Given the description of an element on the screen output the (x, y) to click on. 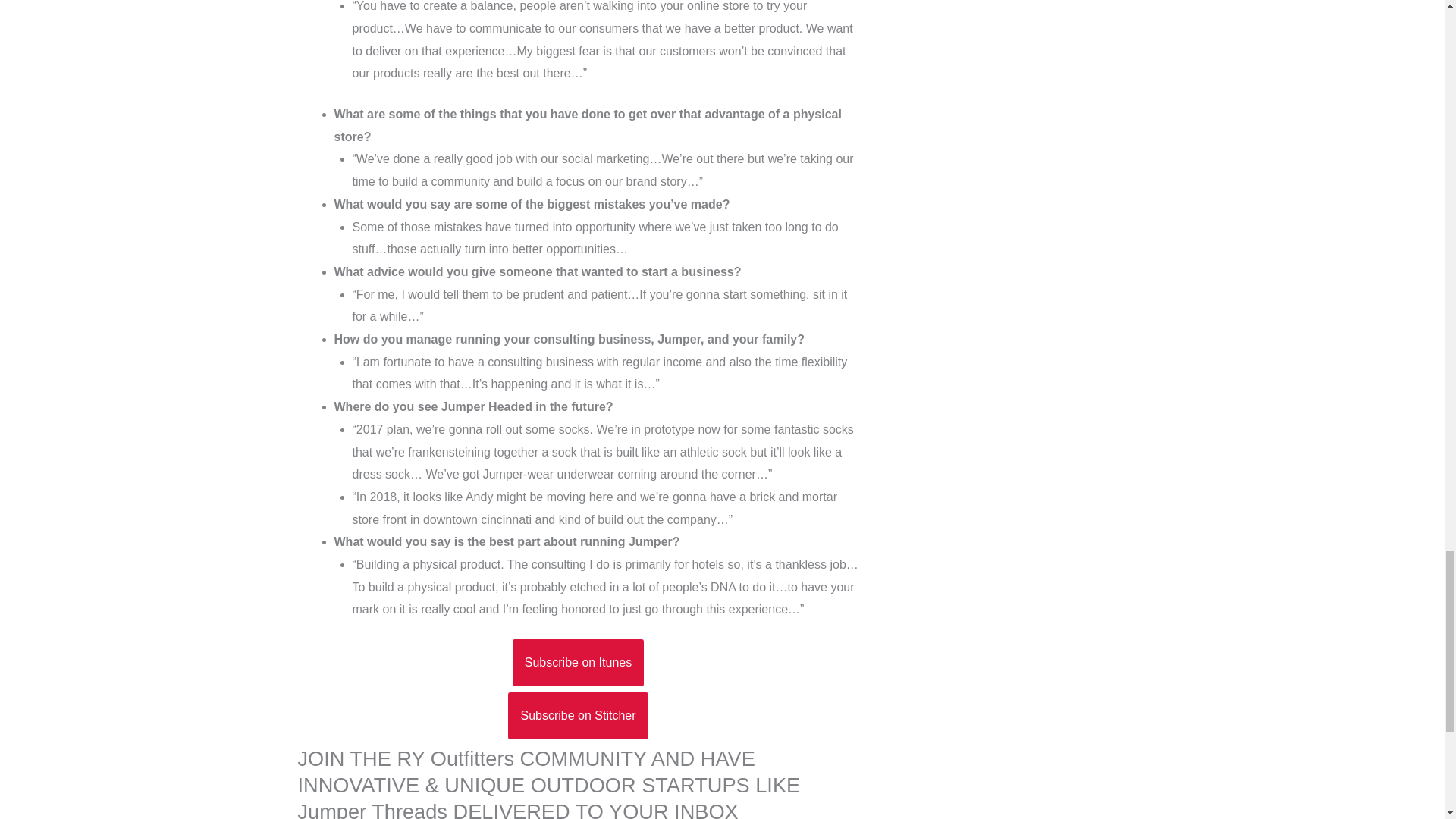
Subscribe on Itunes (577, 662)
Subscribe on Stitcher (577, 715)
